Given the description of an element on the screen output the (x, y) to click on. 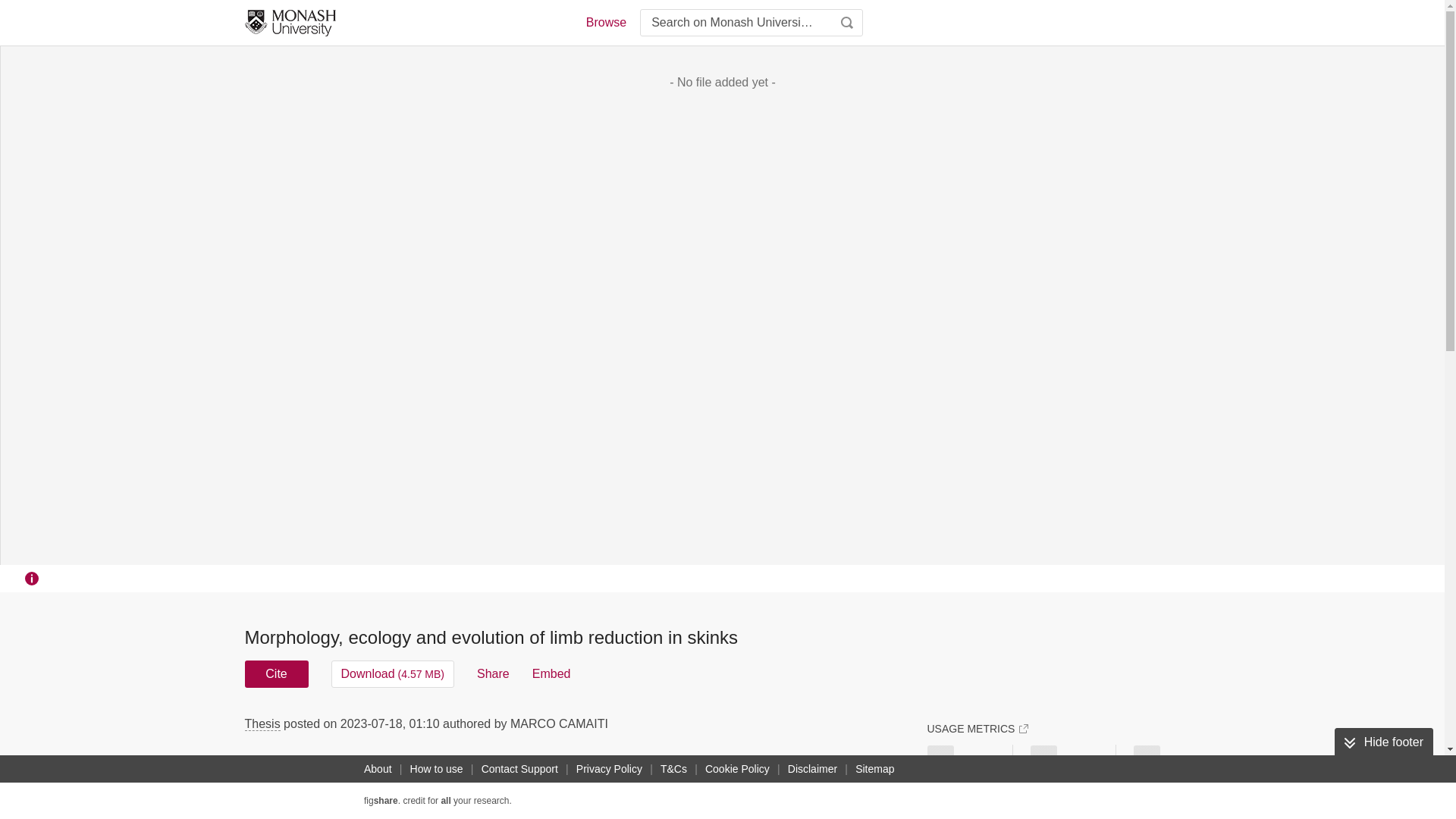
Contact Support (519, 769)
Share (493, 673)
How to use (436, 769)
Cite (275, 673)
Browse (605, 22)
Hide footer (1383, 742)
Embed (551, 673)
Cookie Policy (737, 769)
About (377, 769)
Sitemap (874, 769)
